Given the description of an element on the screen output the (x, y) to click on. 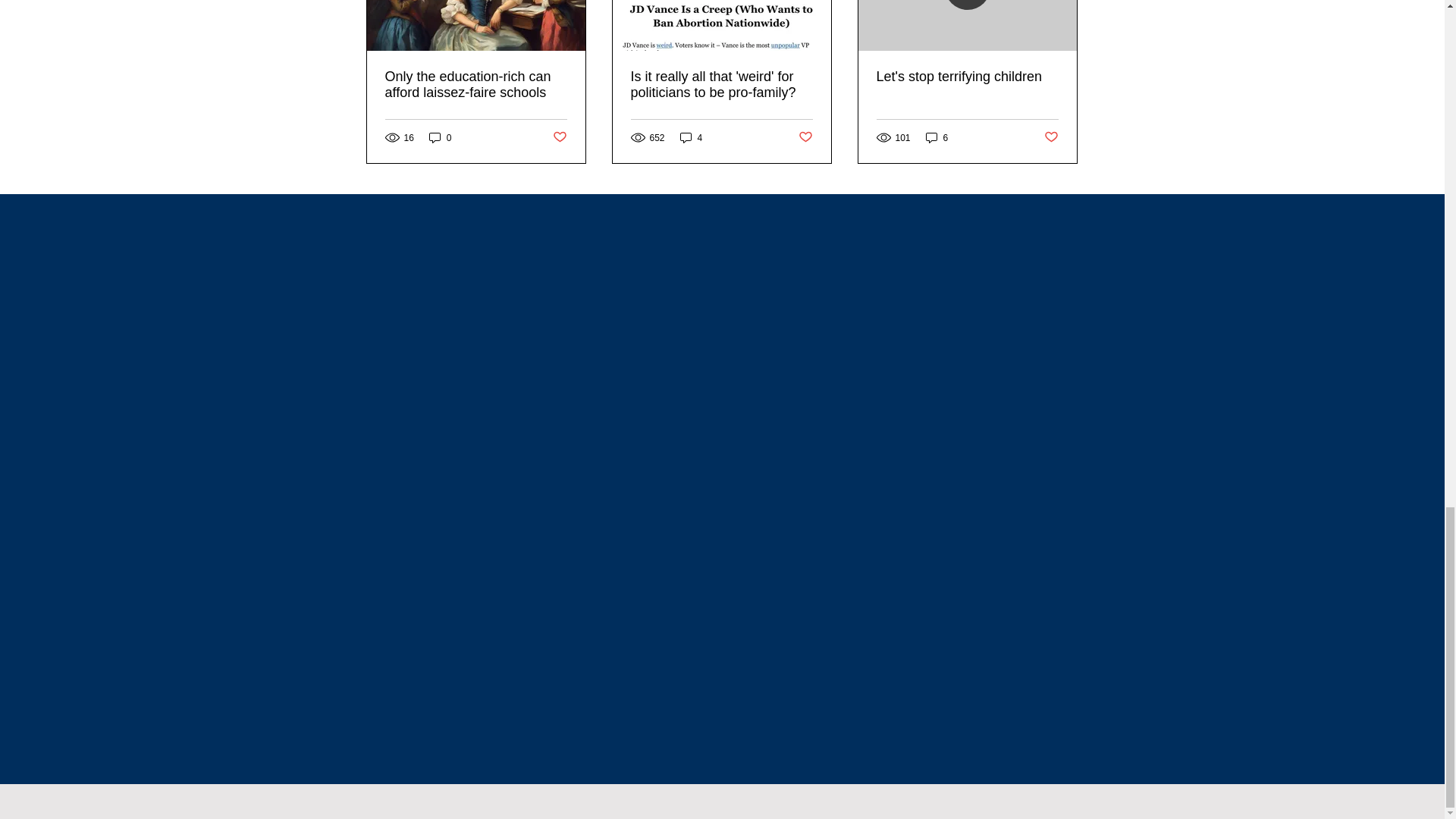
4 (691, 137)
Post not marked as liked (558, 137)
Let's stop terrifying children (967, 76)
Post not marked as liked (1050, 137)
0 (440, 137)
Post not marked as liked (804, 137)
Only the education-rich can afford laissez-faire schools (476, 84)
6 (937, 137)
